Given the description of an element on the screen output the (x, y) to click on. 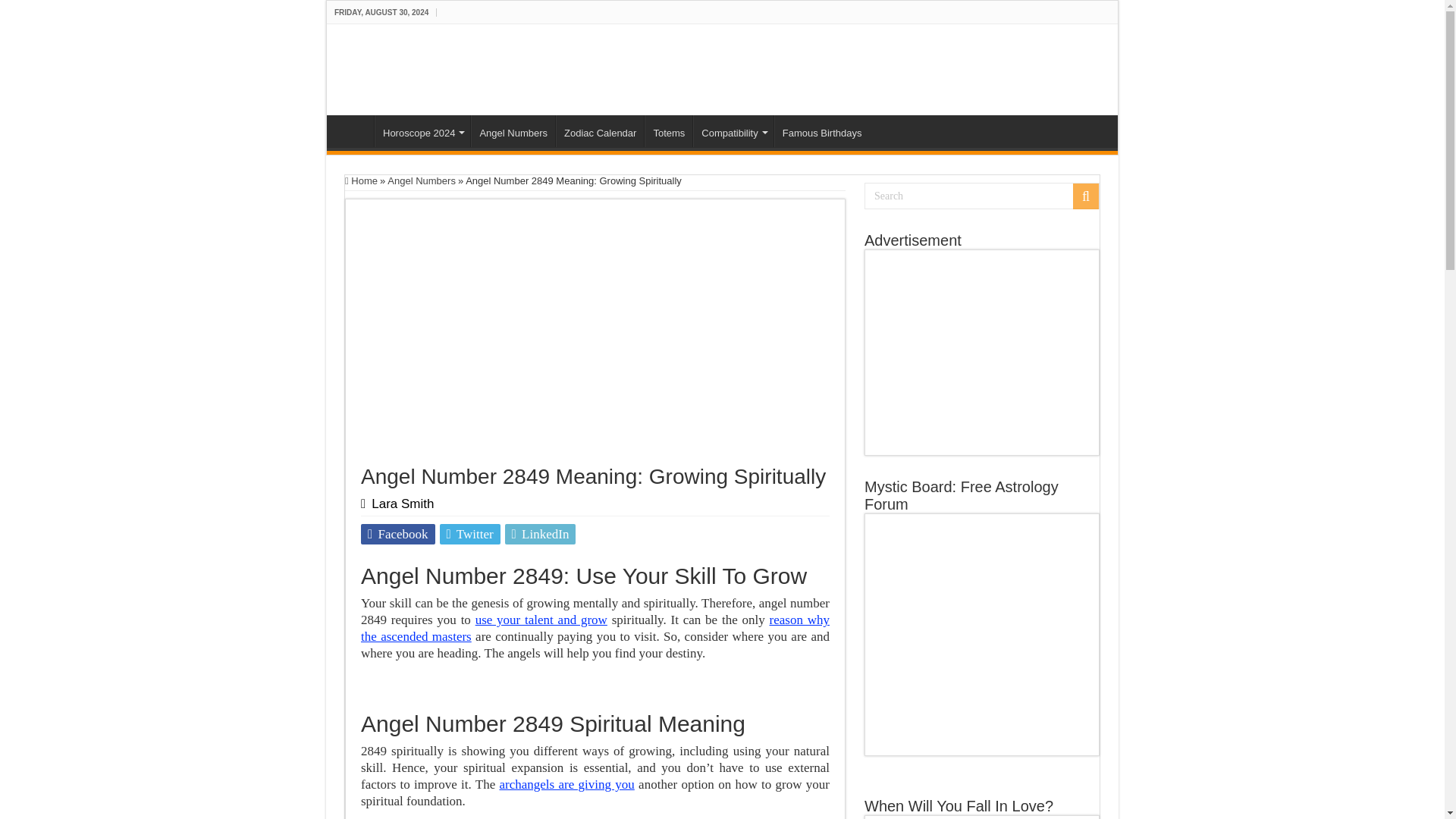
reason why the ascended masters (595, 627)
Search (981, 195)
What Are Animal Totems (669, 131)
Facebook (398, 534)
Compatibility (733, 131)
archangels are giving you (566, 784)
Famous Birthdays (821, 131)
Home (354, 131)
Compatibility (733, 131)
Totems (669, 131)
